Given the description of an element on the screen output the (x, y) to click on. 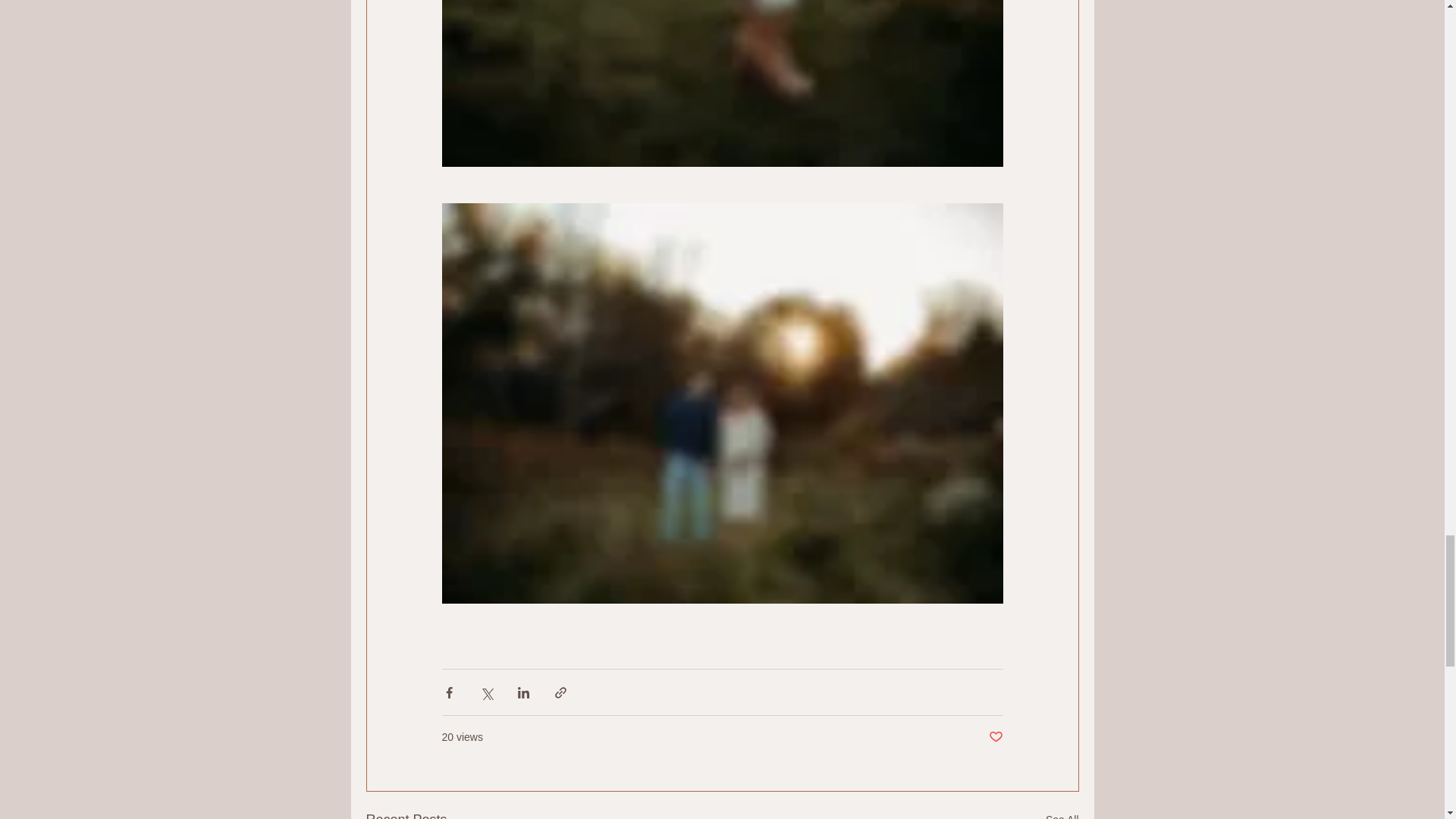
See All (1061, 814)
Post not marked as liked (995, 737)
